Given the description of an element on the screen output the (x, y) to click on. 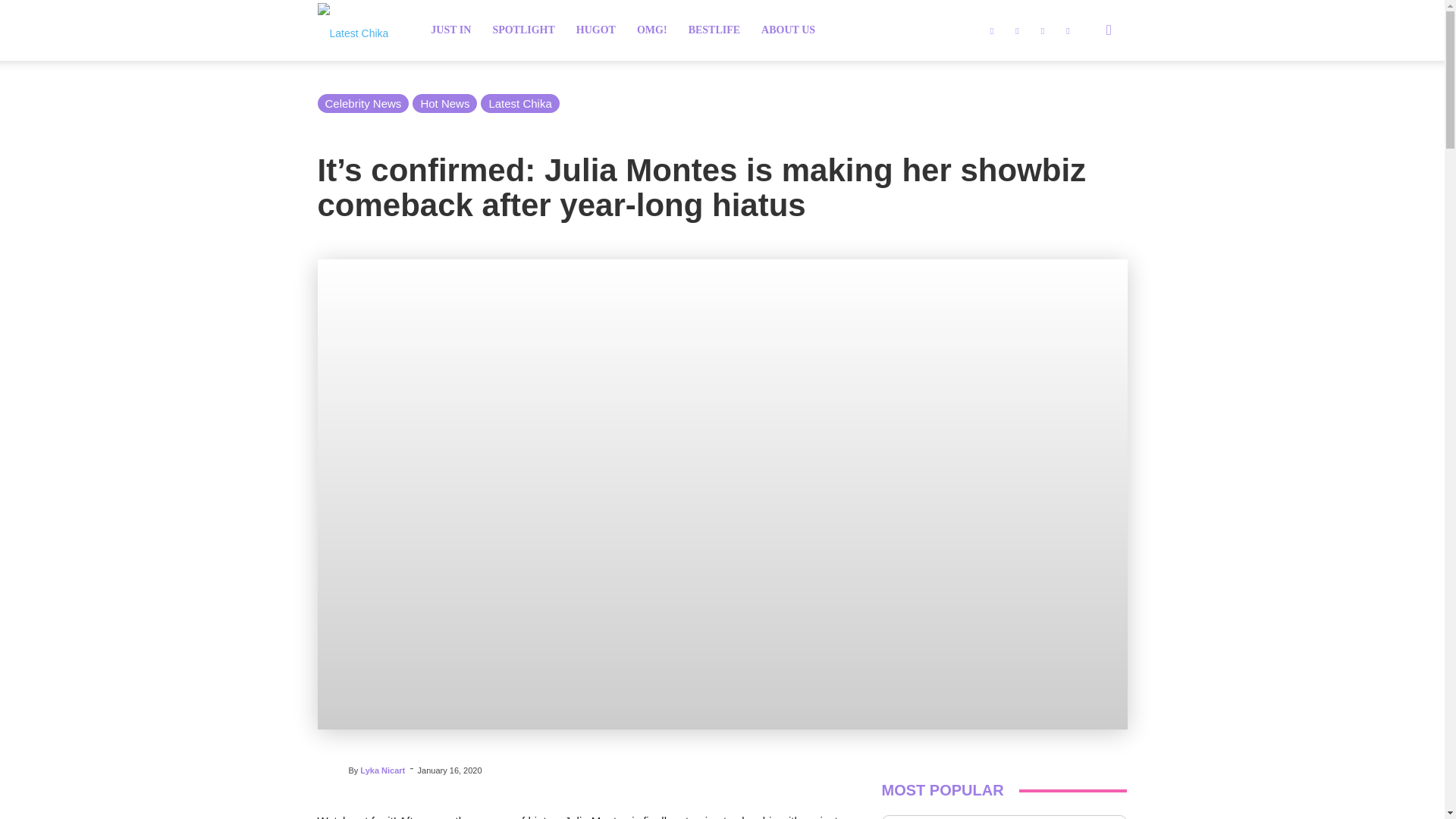
Latest Chika (352, 30)
Lyka Nicart (332, 769)
JUST IN (450, 30)
Latest Chika (352, 30)
Search (1085, 102)
